Given the description of an element on the screen output the (x, y) to click on. 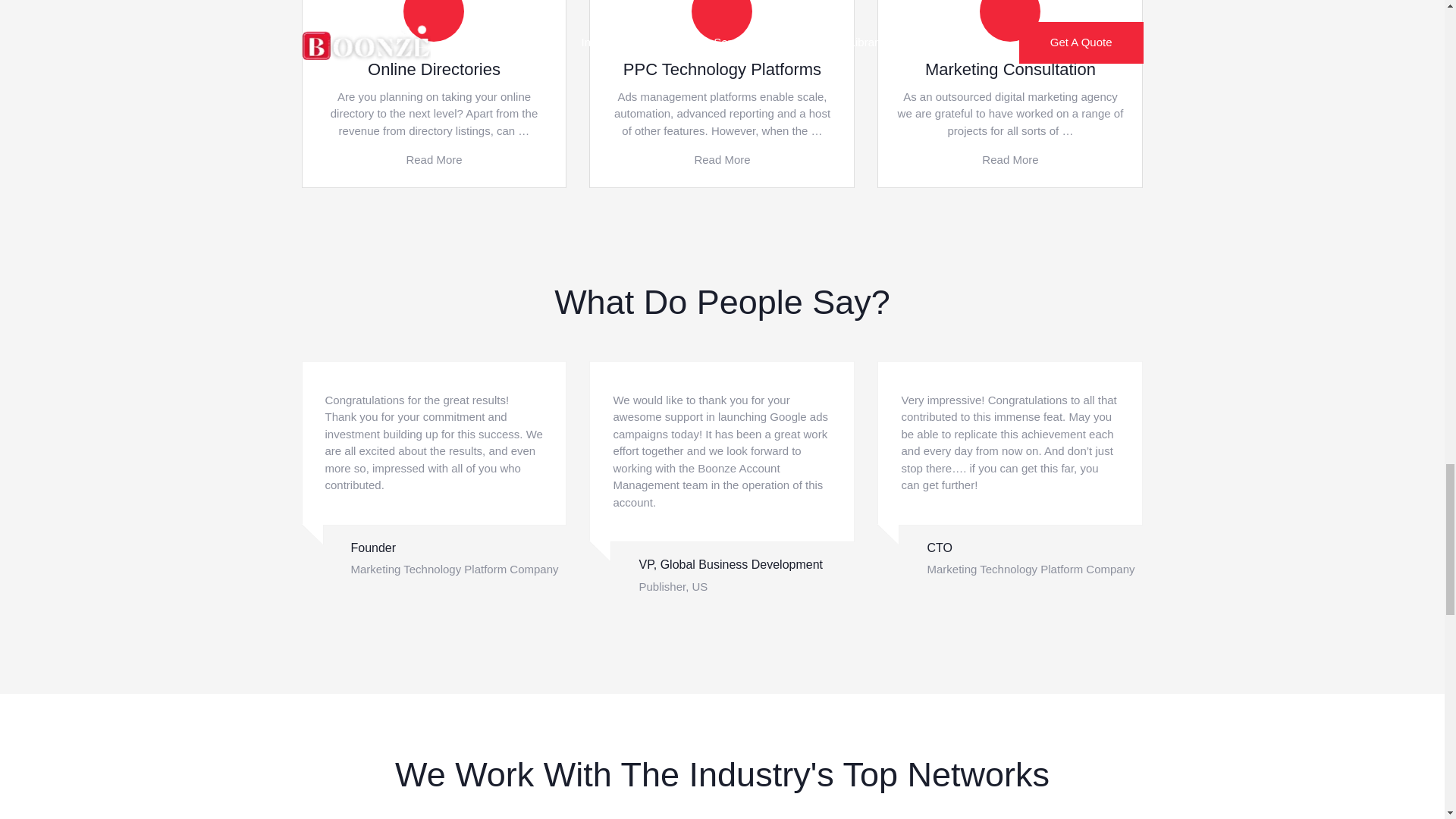
Read More (433, 159)
Read More (1009, 159)
Read More (721, 159)
